Given the description of an element on the screen output the (x, y) to click on. 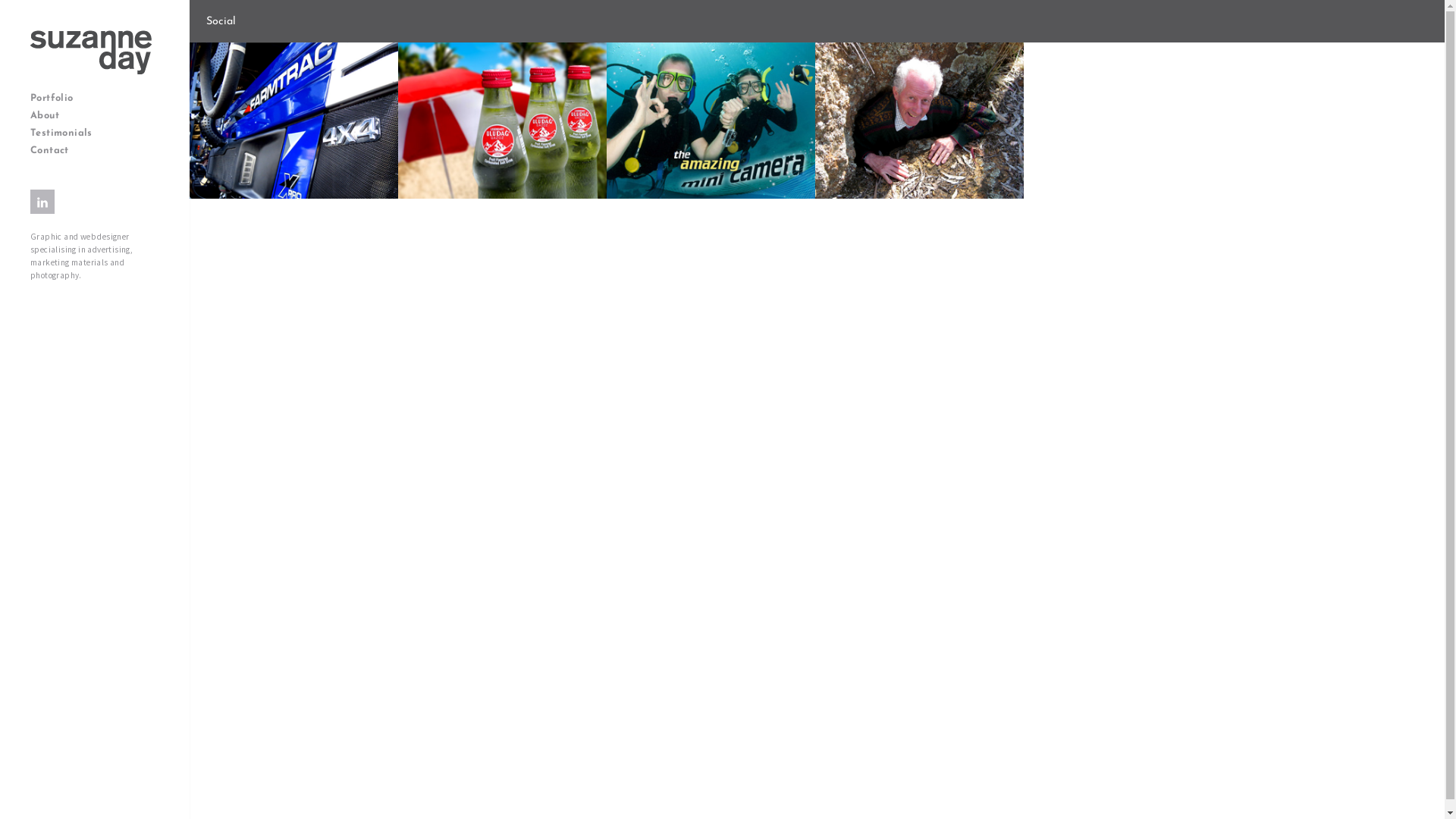
About Element type: text (96, 115)
Testimonials Element type: text (96, 132)
Sota Tractors II Element type: hover (293, 120)
Essendon Gem & Lapidary Club Element type: hover (919, 120)
Kaiser Baas Element type: hover (710, 120)
Portfolio Element type: text (96, 97)
Contact Element type: text (96, 150)
